Given the description of an element on the screen output the (x, y) to click on. 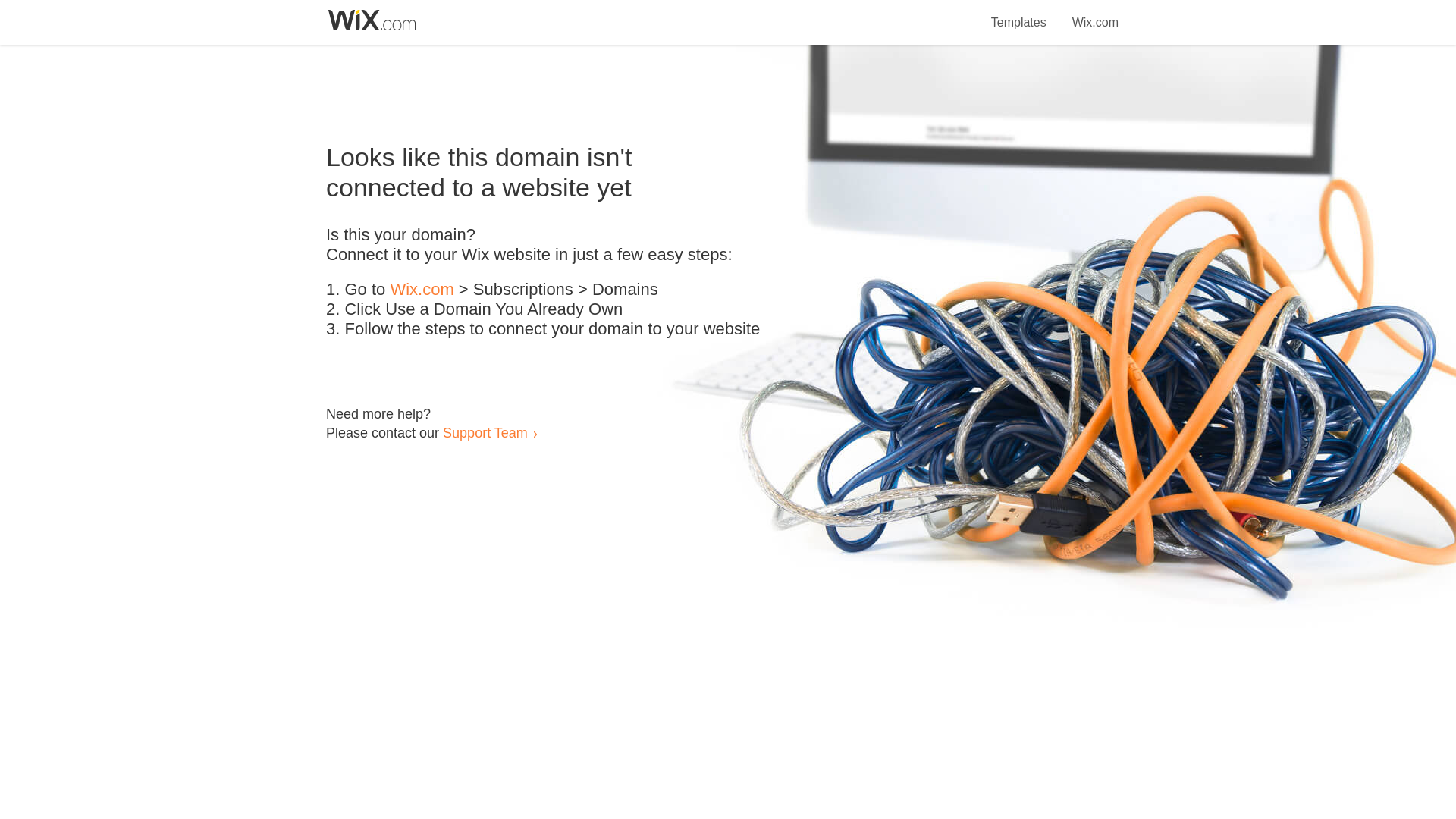
Wix.com (421, 289)
Templates (1018, 14)
Support Team (484, 432)
Wix.com (1095, 14)
